Given the description of an element on the screen output the (x, y) to click on. 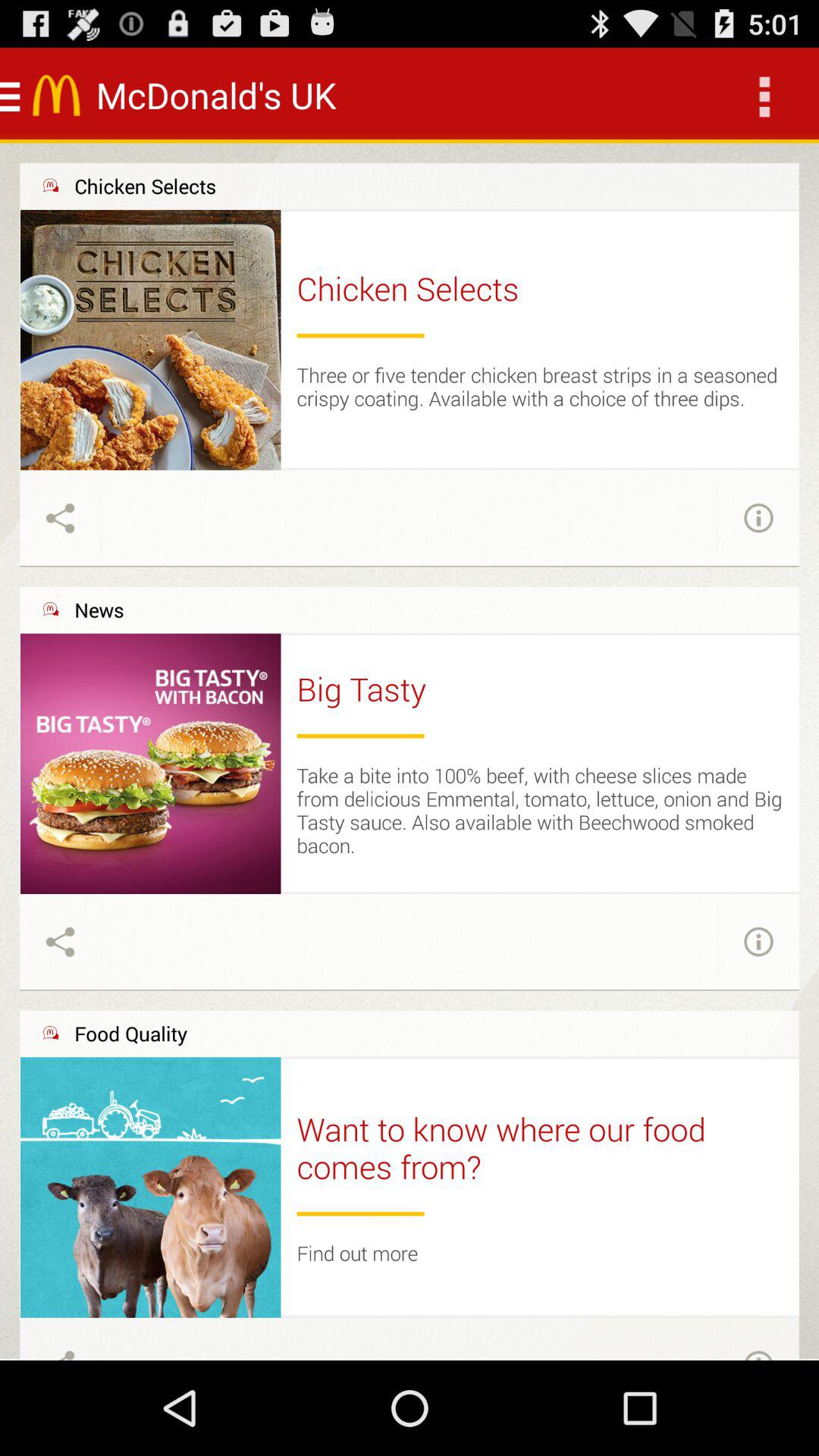
swipe until want to know (539, 1147)
